Given the description of an element on the screen output the (x, y) to click on. 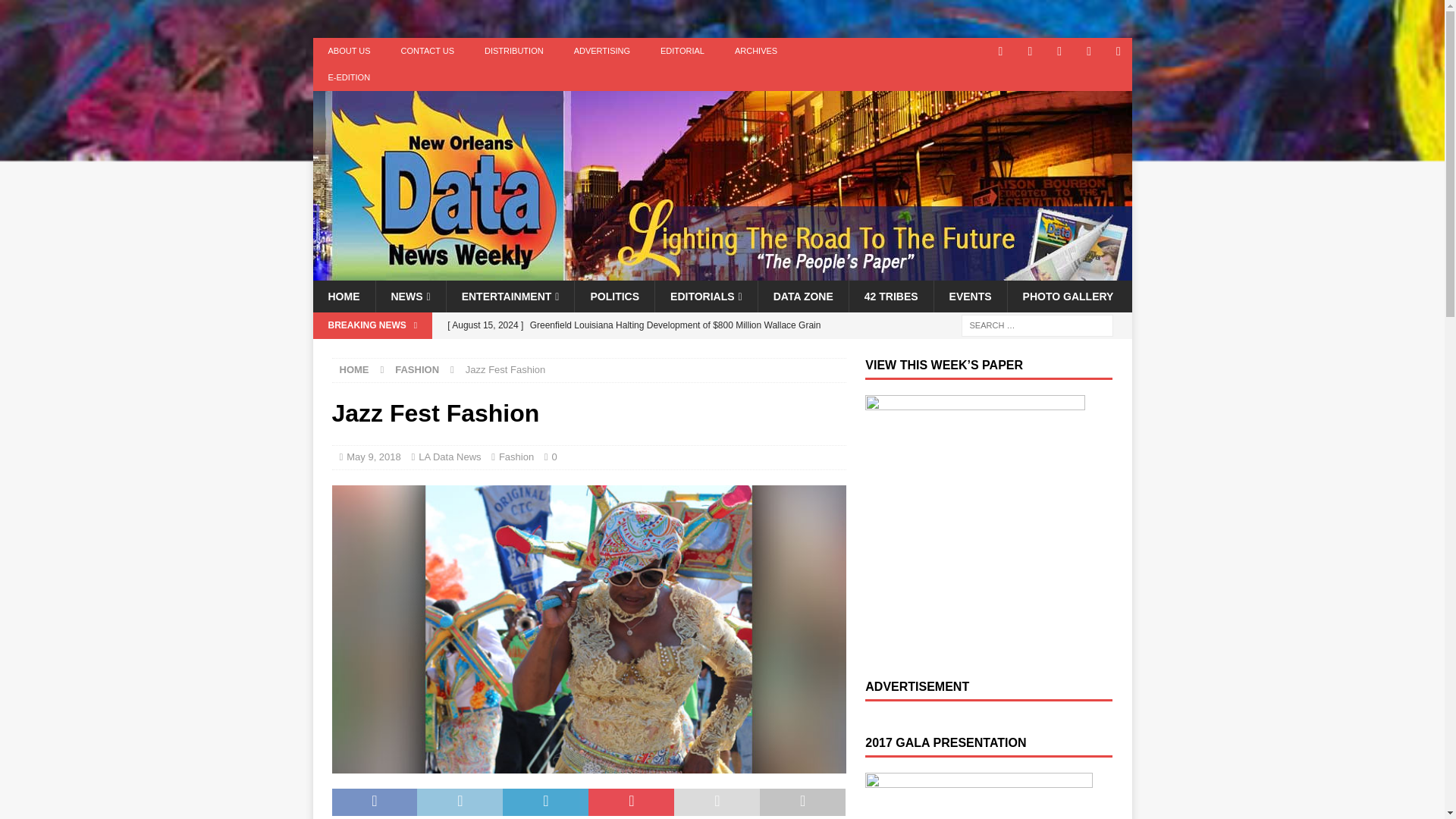
E-EDITION (349, 77)
ARCHIVES (755, 50)
POLITICS (613, 296)
NEWS (409, 296)
FASHION (416, 369)
PHOTO GALLERY (1068, 296)
EDITORIALS (705, 296)
EDITORIAL (682, 50)
New Orleans Data News Weekly (722, 272)
42 TRIBES (890, 296)
